Given the description of an element on the screen output the (x, y) to click on. 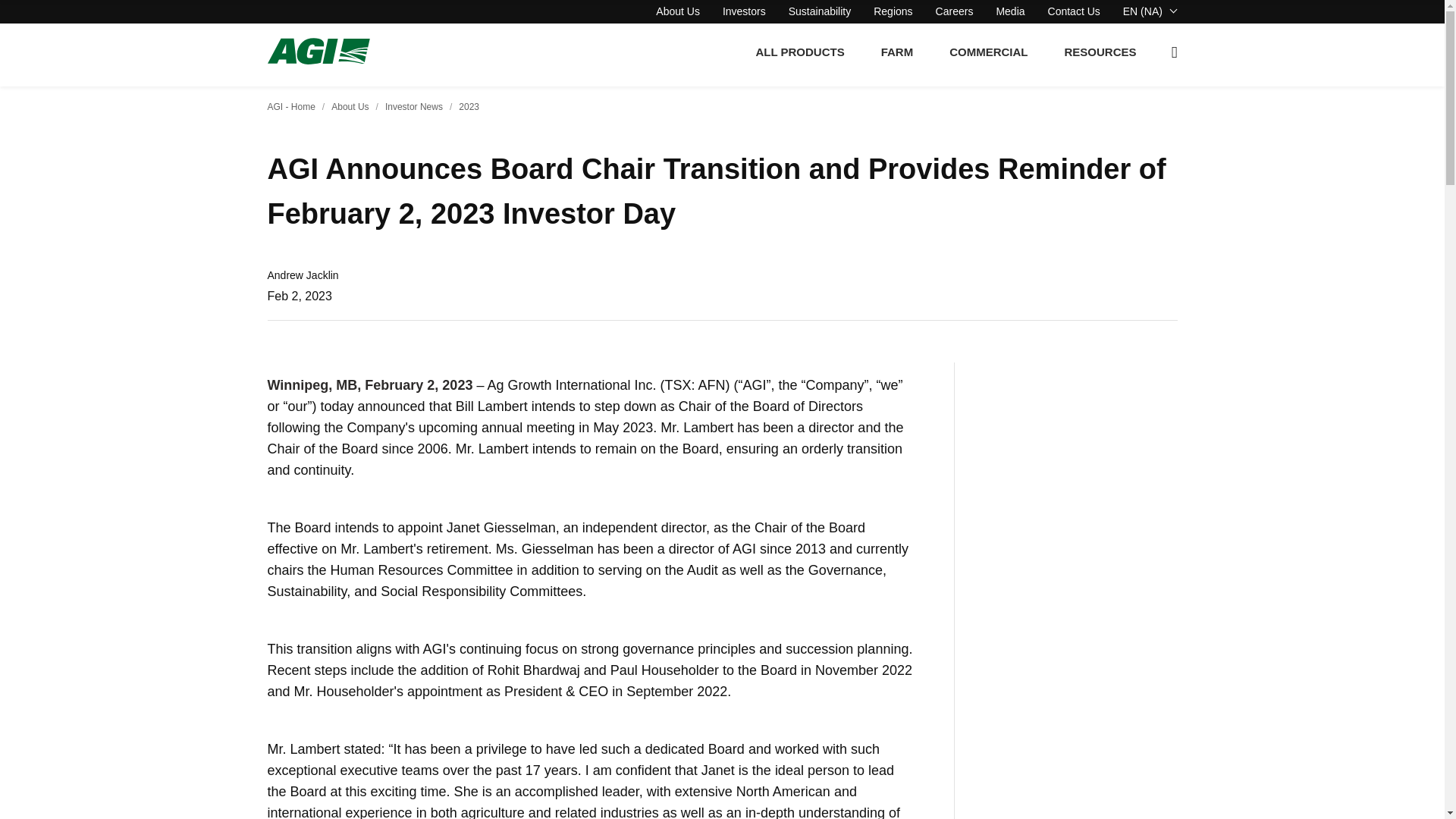
Media (1010, 10)
Contact Us (1074, 10)
Careers (955, 10)
Regions (892, 10)
About Us (678, 10)
Investors (743, 10)
Sustainability (820, 10)
